Given the description of an element on the screen output the (x, y) to click on. 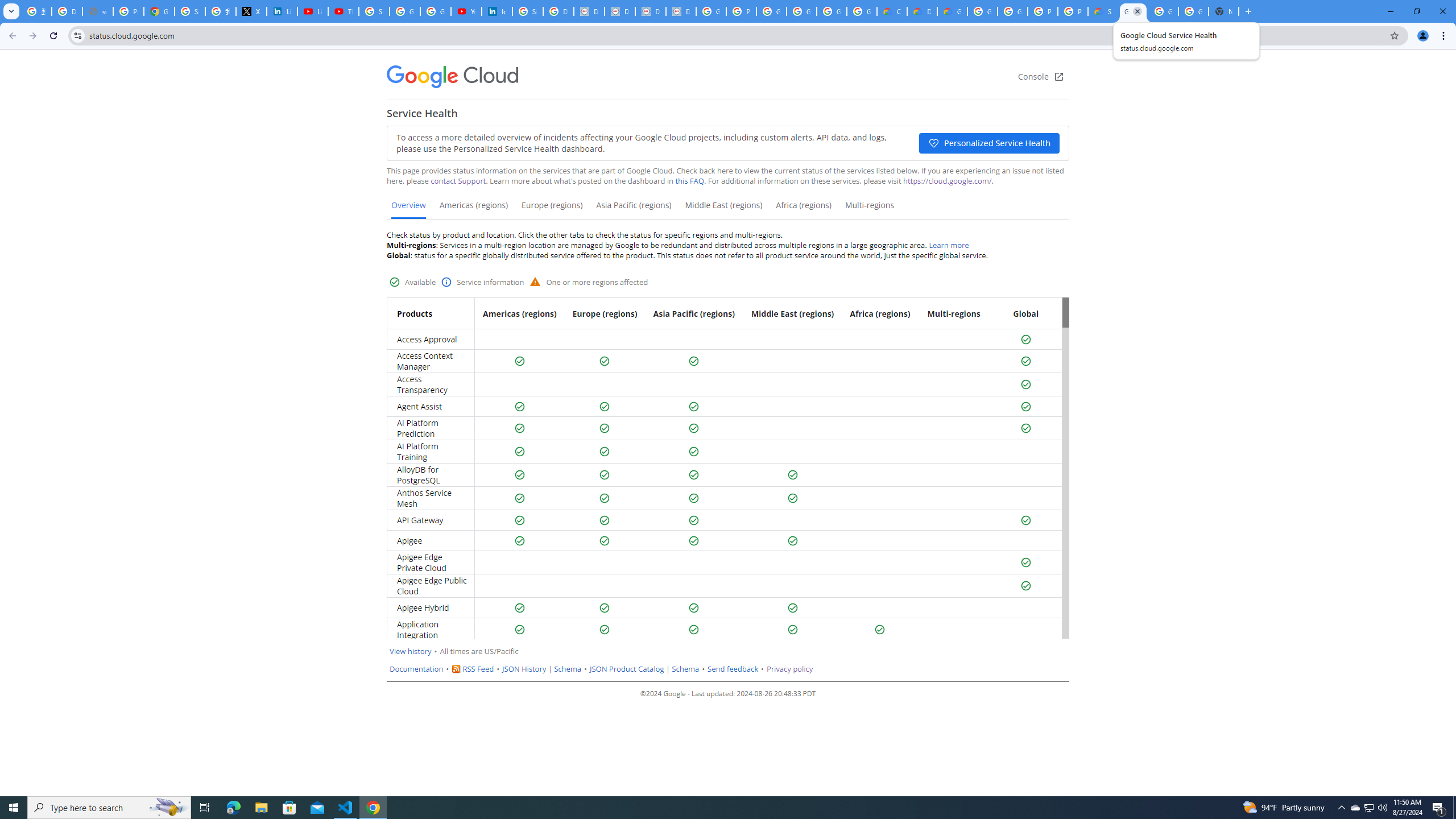
contact Support (458, 181)
Privacy Help Center - Policies Help (127, 11)
Africa (regions) (803, 209)
RSS Feed (478, 668)
Support Hub | Google Cloud (1102, 11)
Schema (684, 668)
Console (1040, 76)
